Given the description of an element on the screen output the (x, y) to click on. 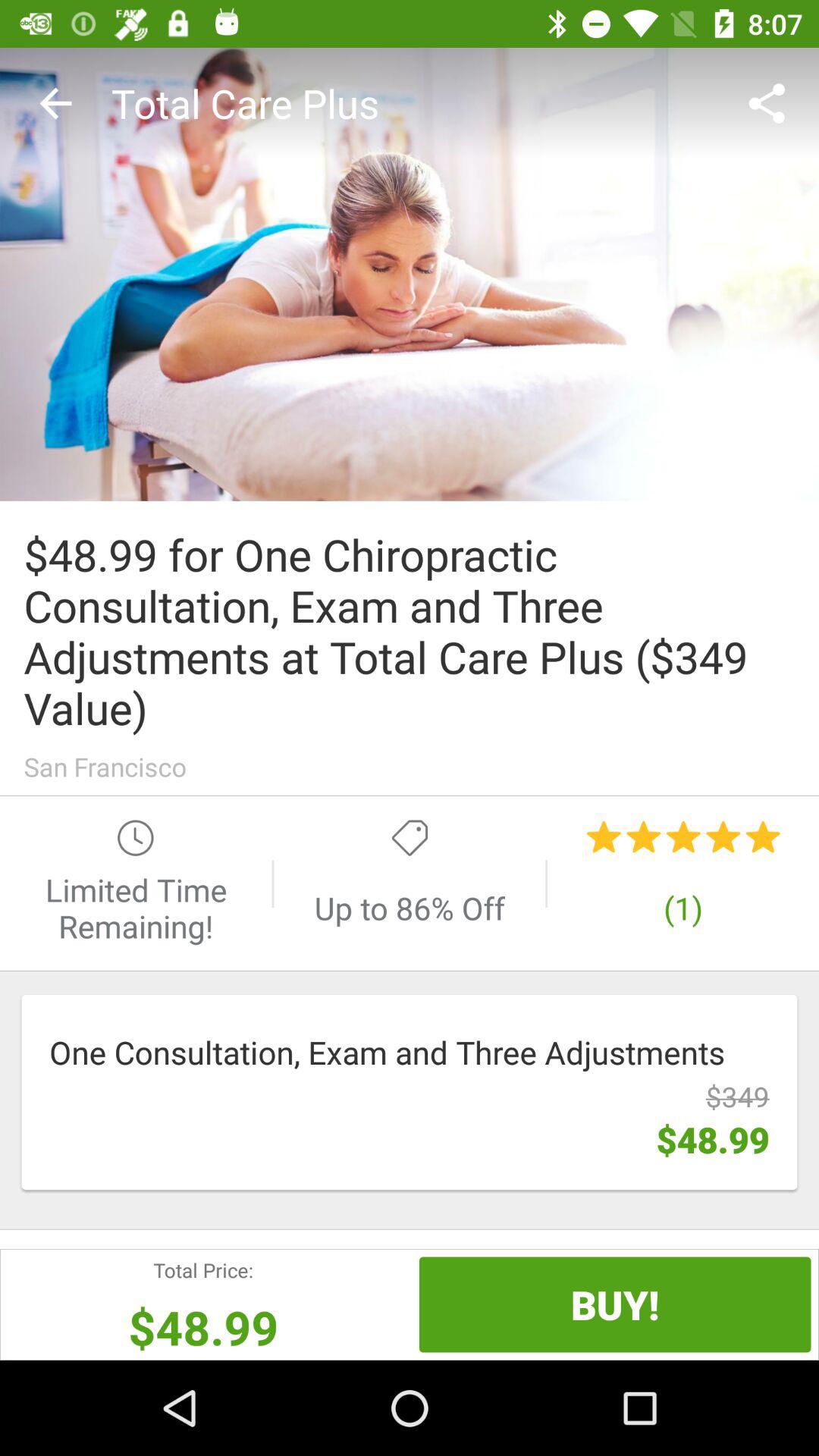
turn on item at the top right corner (771, 103)
